Given the description of an element on the screen output the (x, y) to click on. 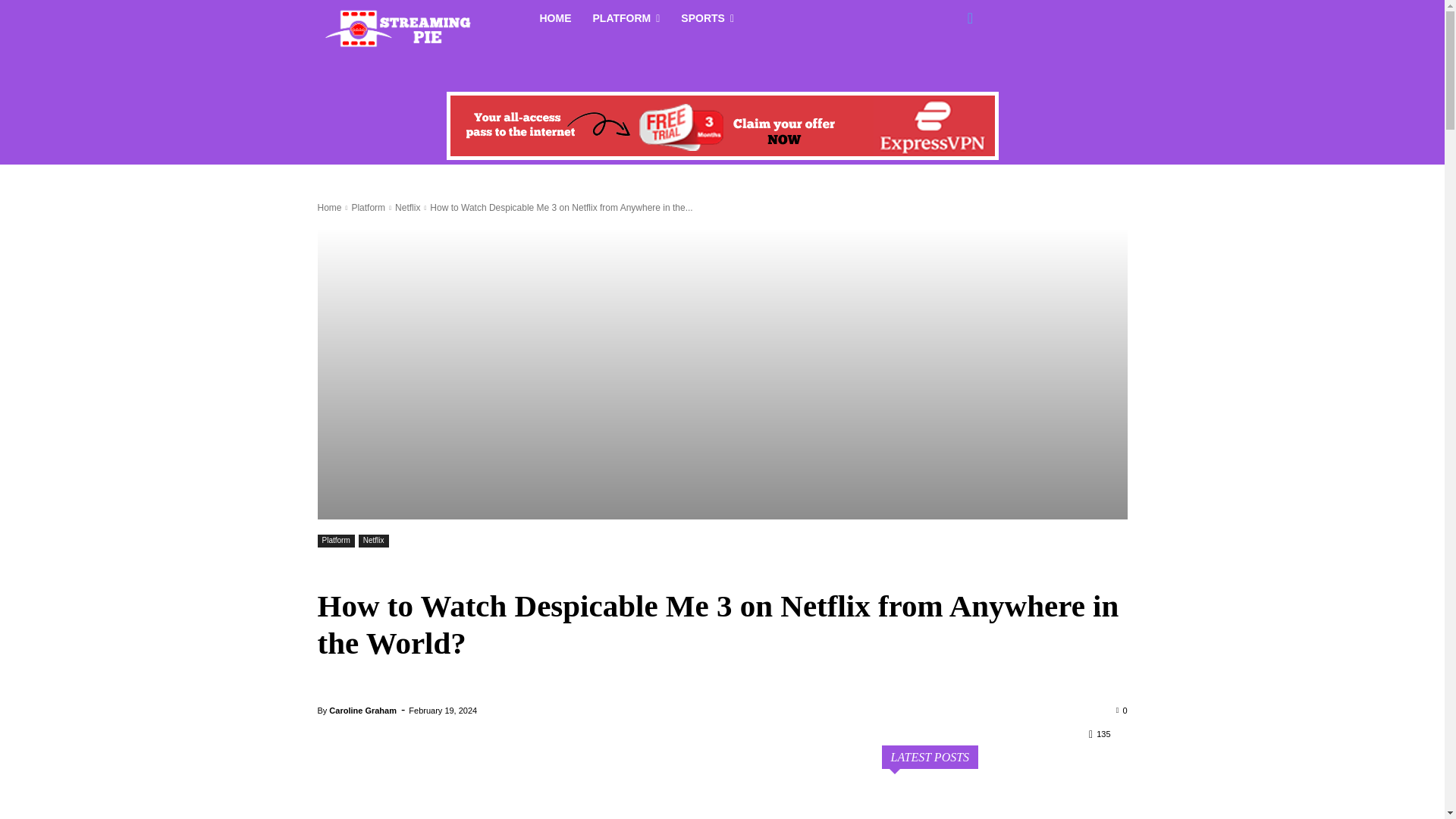
View all posts in Netflix (407, 207)
HOME (555, 18)
PLATFORM (626, 18)
View all posts in Platform (367, 207)
SPORTS (706, 18)
